Given the description of an element on the screen output the (x, y) to click on. 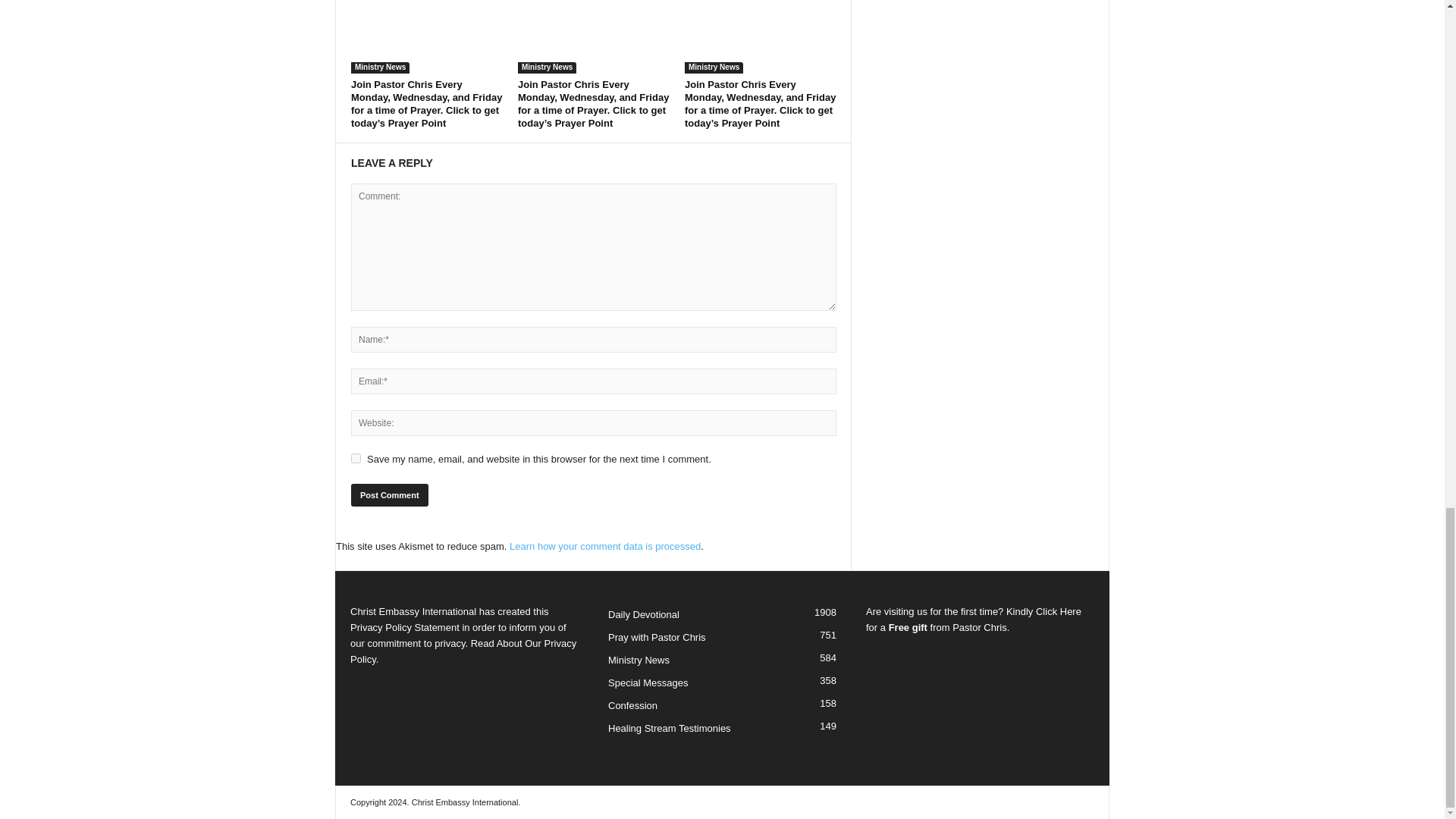
Post Comment (389, 495)
yes (355, 458)
